Given the description of an element on the screen output the (x, y) to click on. 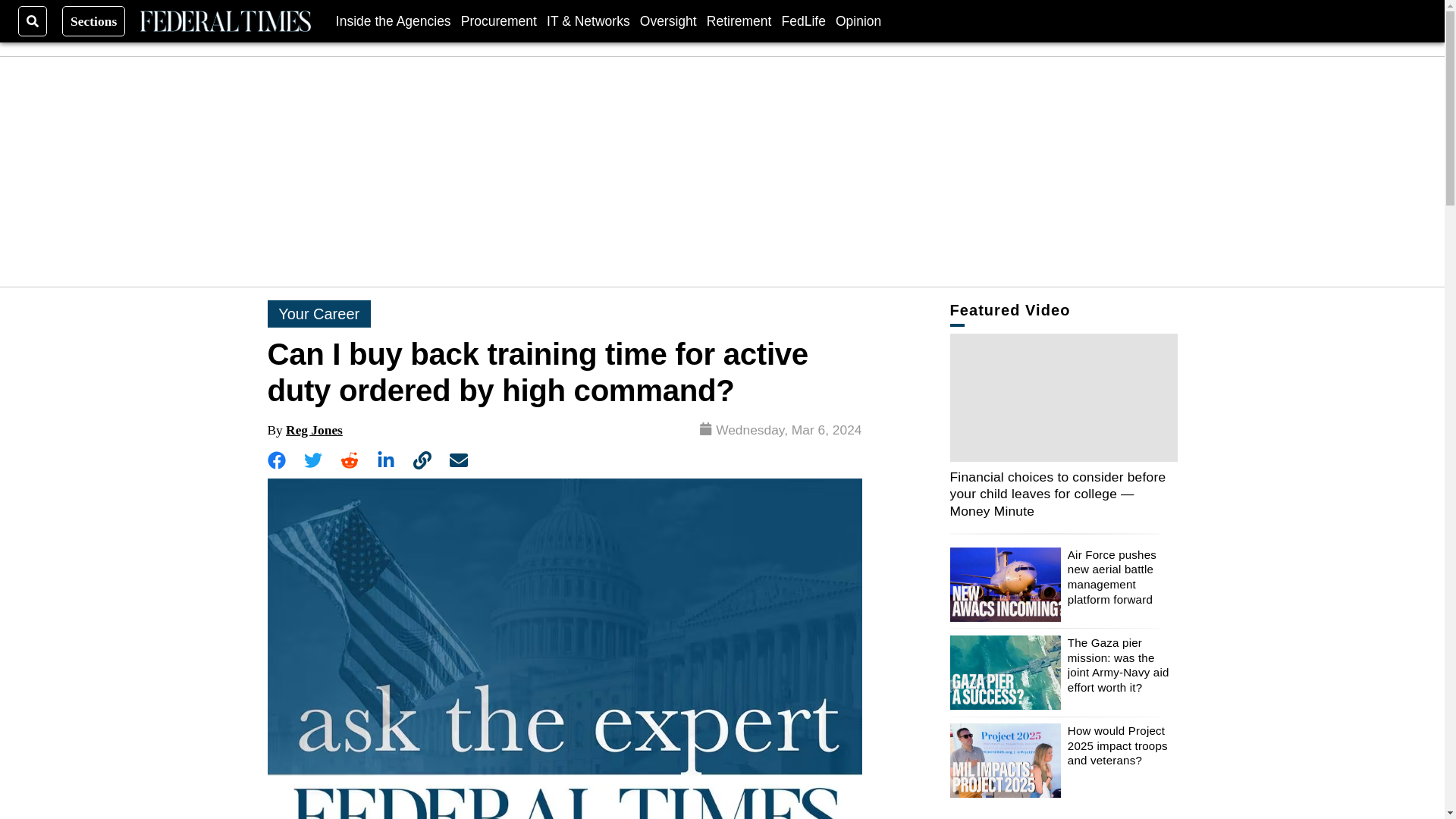
Federal Times Logo (224, 20)
Procurement (499, 20)
Retirement (738, 20)
FedLife (802, 20)
Inside the Agencies (393, 20)
Opinion (857, 20)
Oversight (668, 20)
Sections (93, 20)
